Given the description of an element on the screen output the (x, y) to click on. 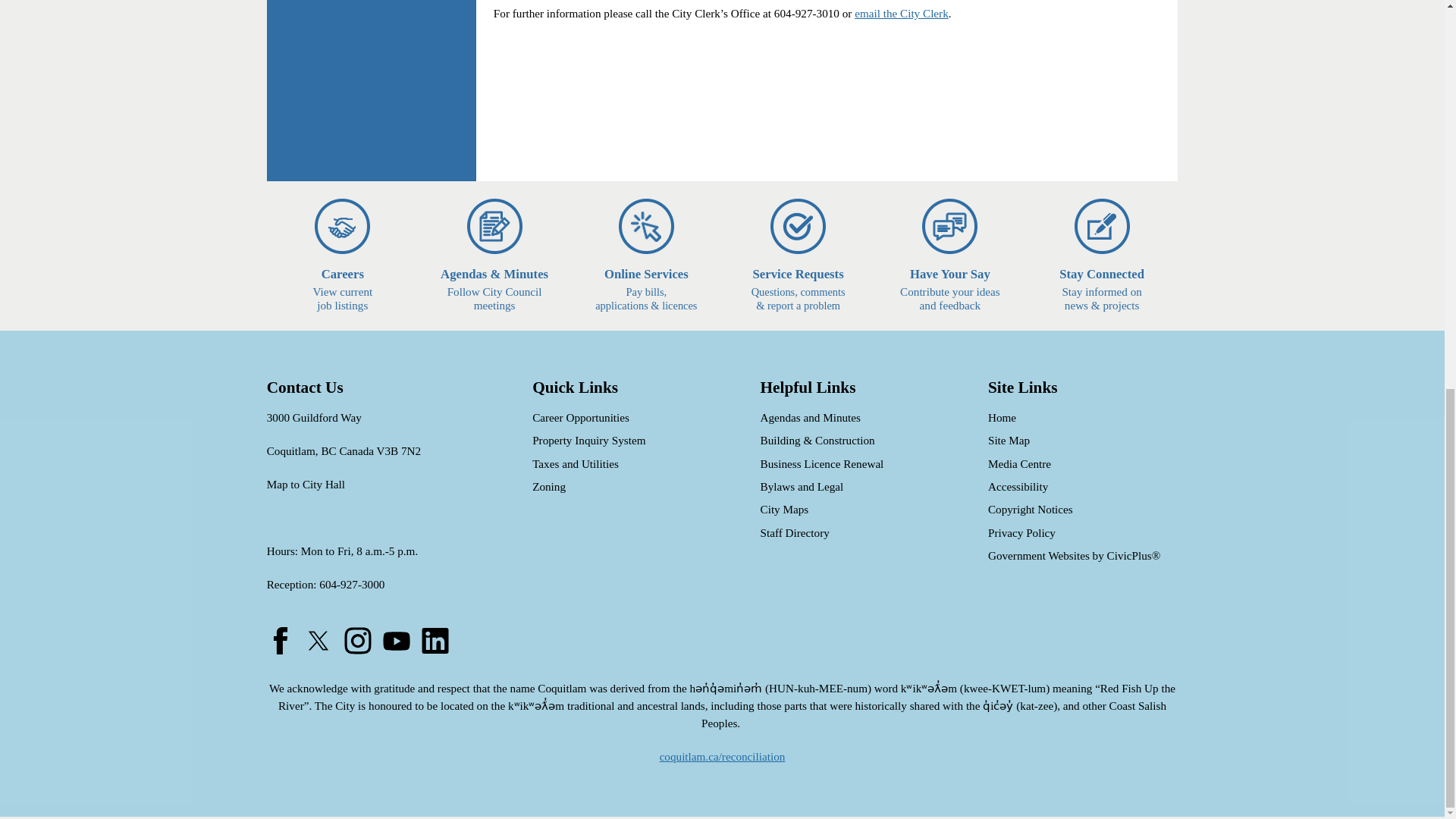
email the City Clerk (901, 12)
